Given the description of an element on the screen output the (x, y) to click on. 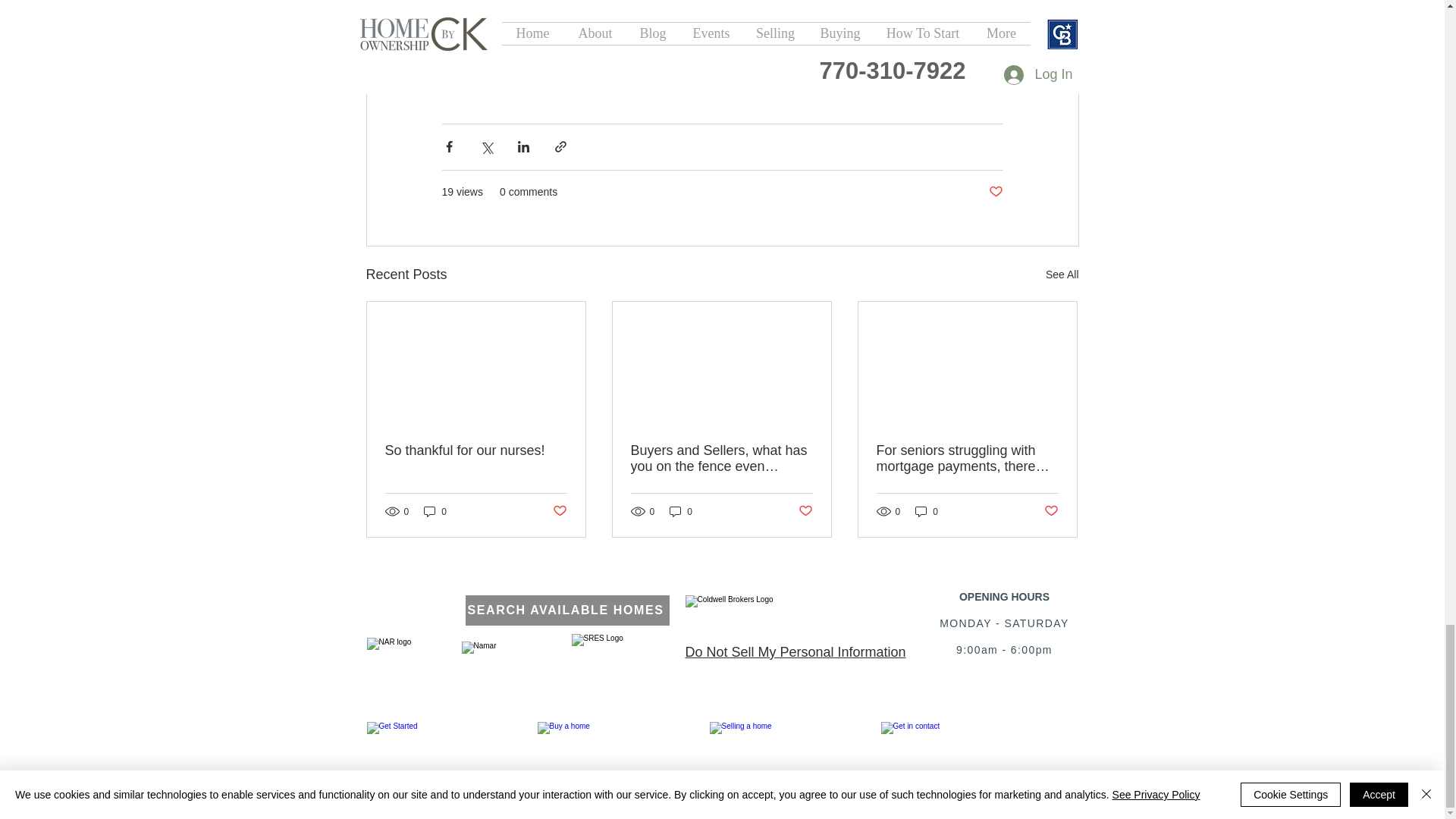
Post not marked as liked (558, 511)
SRES (608, 652)
AARP.org (525, 33)
Post not marked as liked (995, 191)
So thankful for our nurses! (476, 450)
0 (435, 511)
See All (1061, 274)
